Given the description of an element on the screen output the (x, y) to click on. 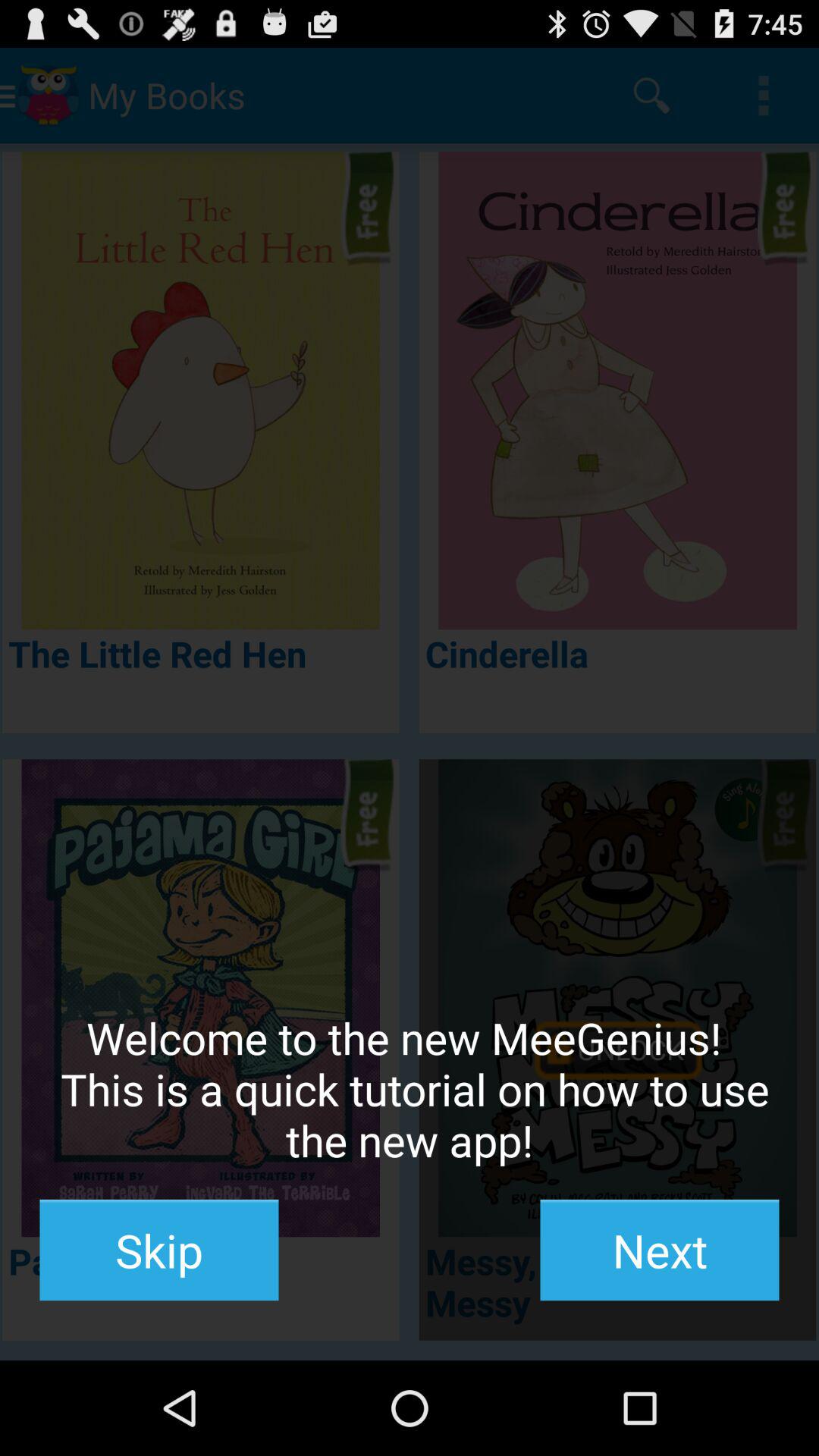
open the skip icon (158, 1249)
